Given the description of an element on the screen output the (x, y) to click on. 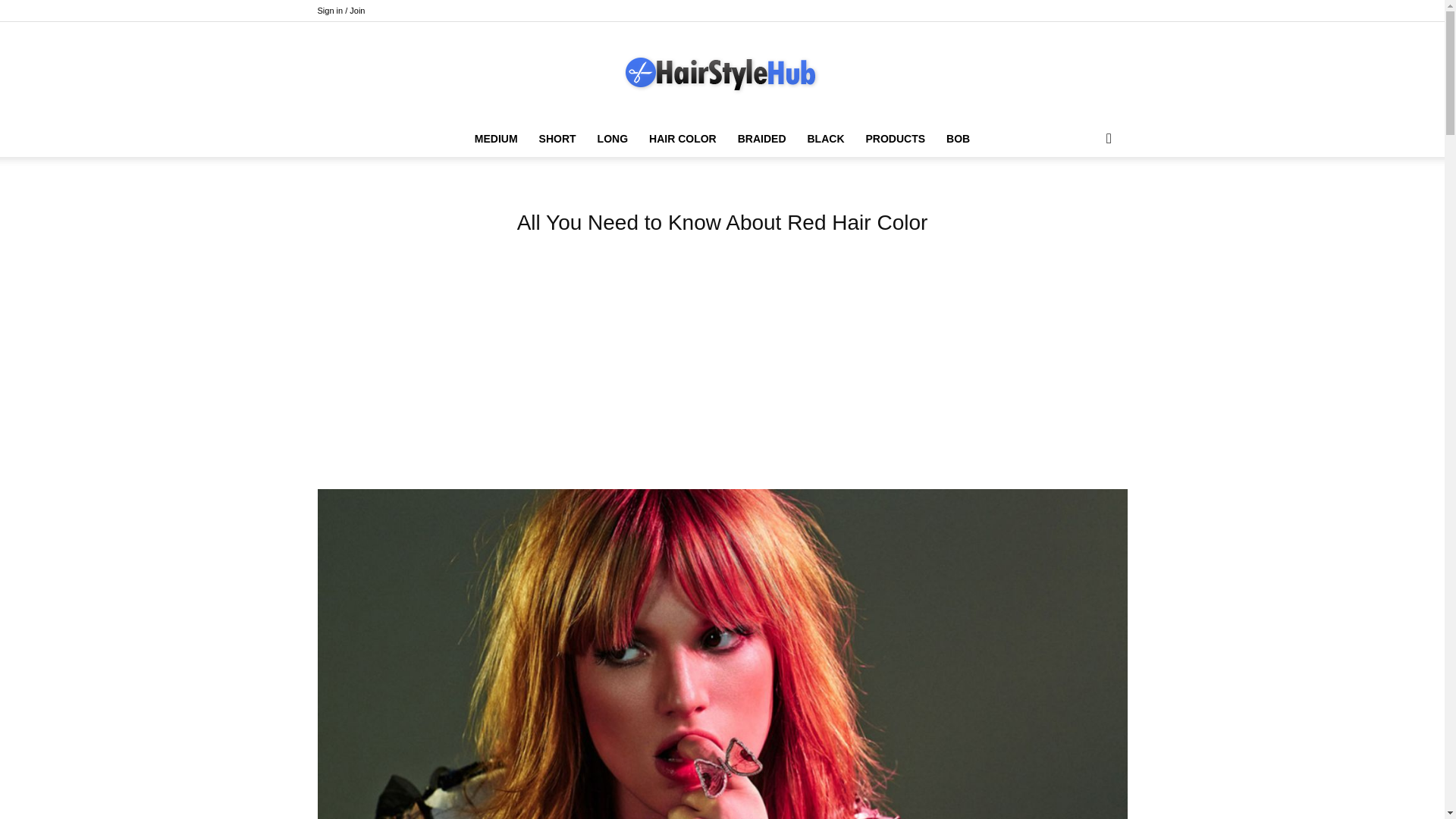
Advertisement (721, 365)
BLACK (825, 138)
SHORT (557, 138)
PRODUCTS (896, 138)
LONG (612, 138)
BRAIDED (761, 138)
BOB (957, 138)
Search (1085, 199)
MEDIUM (496, 138)
HAIR COLOR (682, 138)
